Given the description of an element on the screen output the (x, y) to click on. 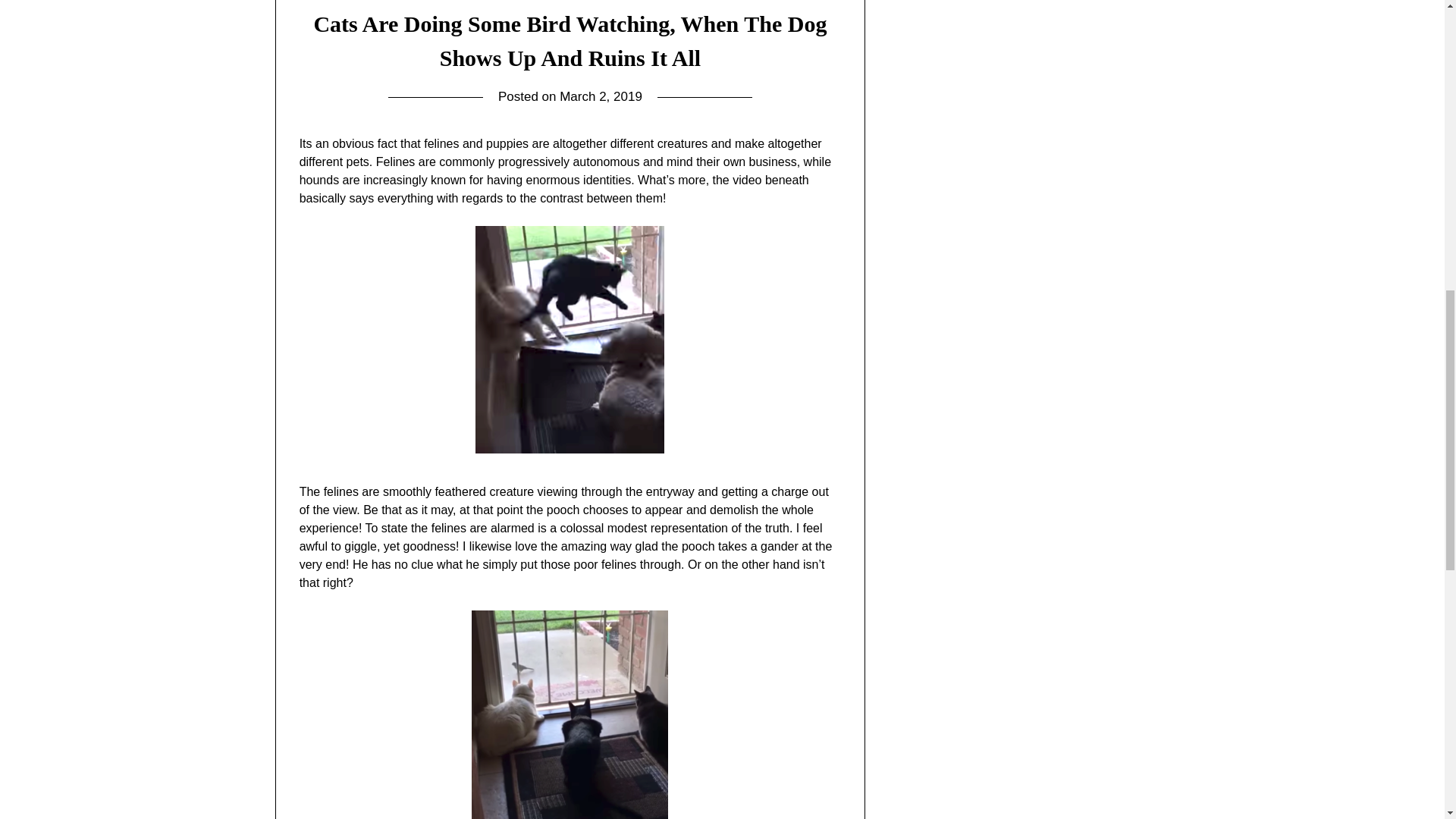
March 2, 2019 (600, 96)
